Given the description of an element on the screen output the (x, y) to click on. 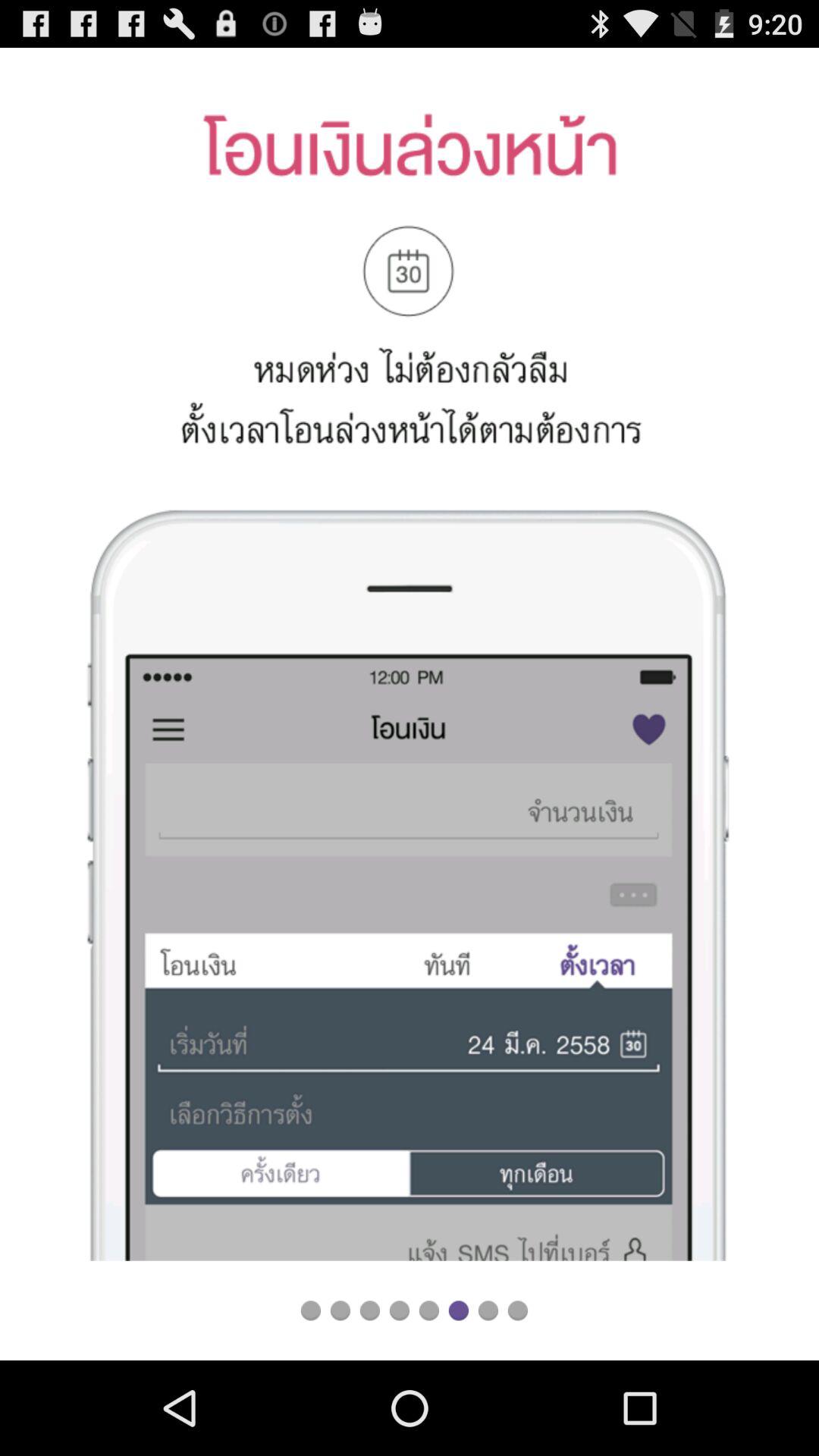
next (340, 1310)
